Given the description of an element on the screen output the (x, y) to click on. 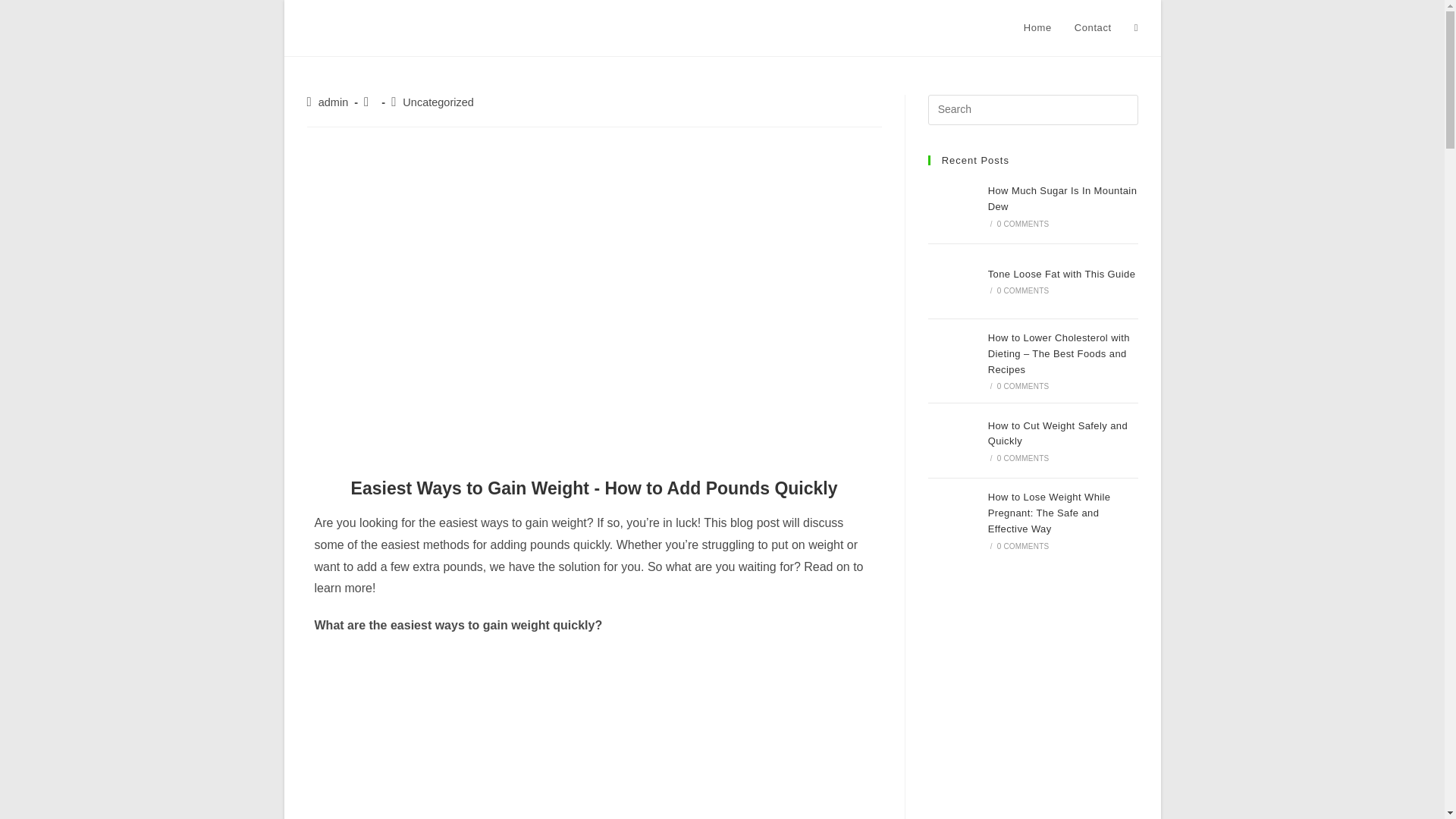
Tone Loose Fat with This Guide (1061, 274)
How to Cut Weight Safely and Quickly (1057, 433)
admin (333, 102)
0 COMMENTS (1023, 386)
0 COMMENTS (1023, 224)
How to Cut Weight Safely and Quickly (953, 440)
How Much Sugar Is In Mountain Dew (953, 205)
Home (1036, 28)
Tone Loose Fat with This Guide (953, 281)
